Given the description of an element on the screen output the (x, y) to click on. 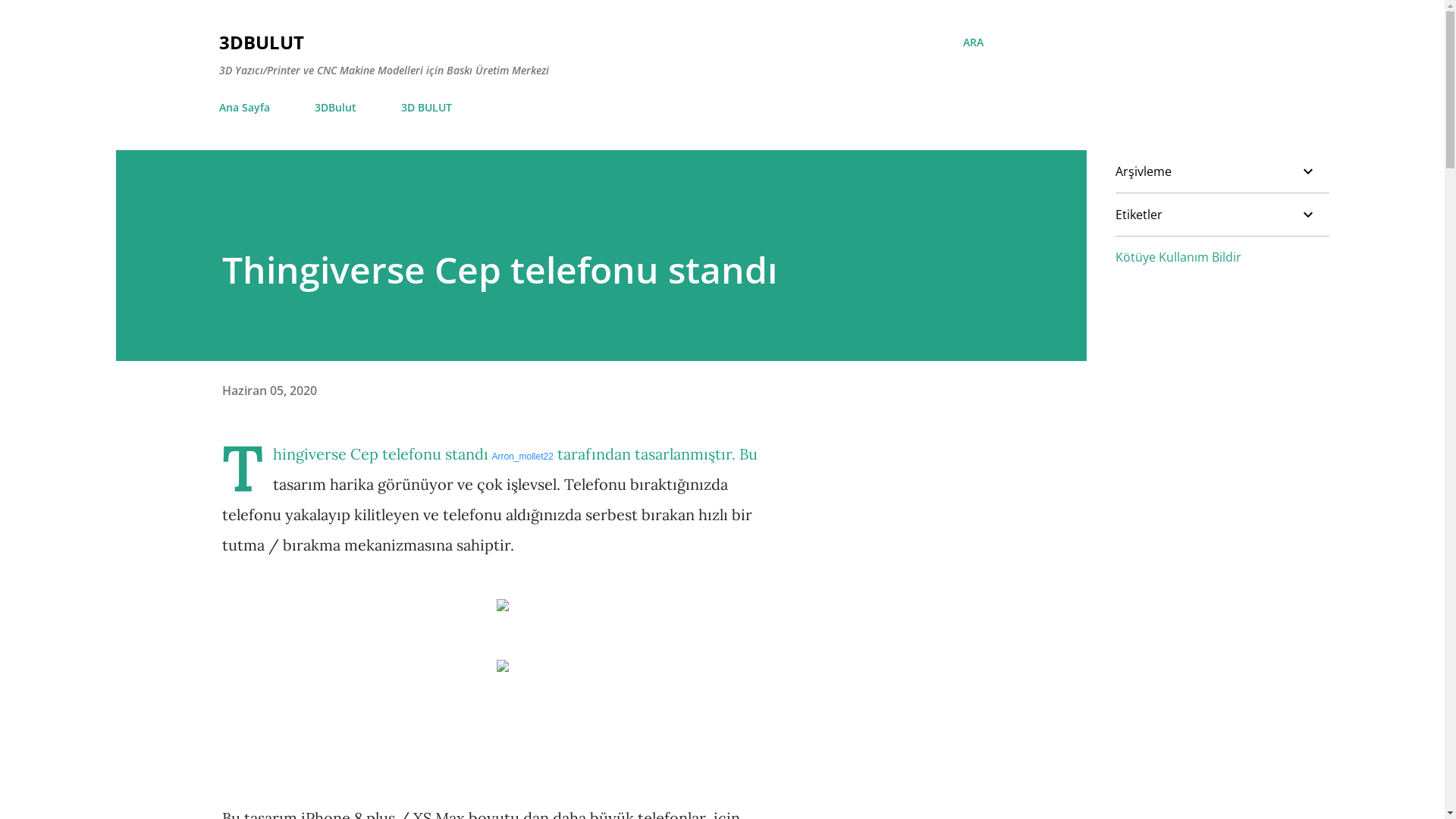
Ana Sayfa Element type: text (248, 107)
3D BULUT Element type: text (425, 107)
3DBULUT Element type: text (260, 41)
3DBulut Element type: text (334, 107)
Haziran 05, 2020 Element type: text (268, 390)
ARA Element type: text (973, 42)
Arron_mollet22 Element type: text (521, 456)
